Given the description of an element on the screen output the (x, y) to click on. 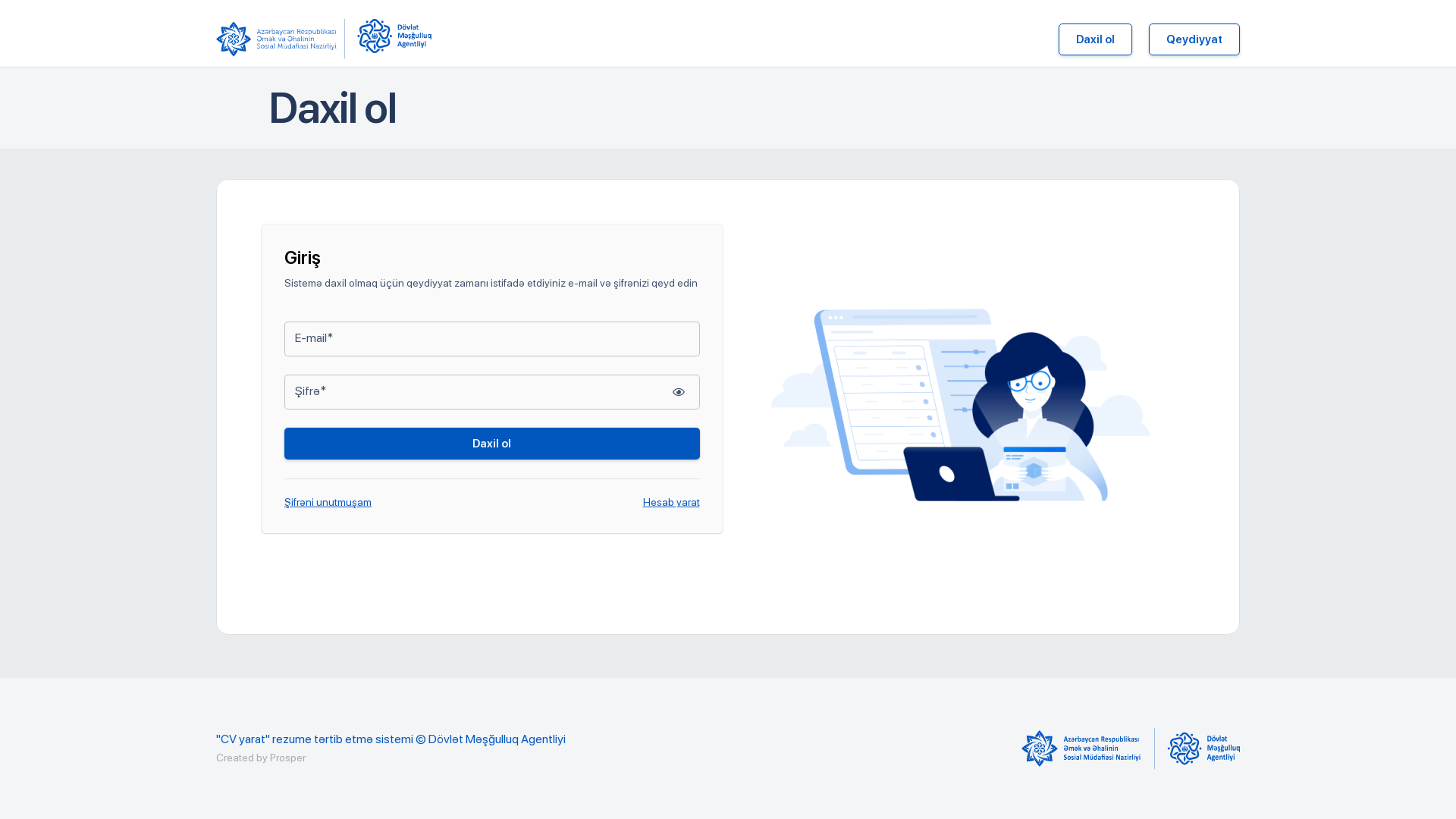
Daxil ol Element type: text (491, 443)
Hesab yarat Element type: text (671, 502)
Created by Prosper Element type: text (260, 757)
Qeydiyyat Element type: text (1193, 39)
Daxil ol Element type: text (1095, 39)
